Given the description of an element on the screen output the (x, y) to click on. 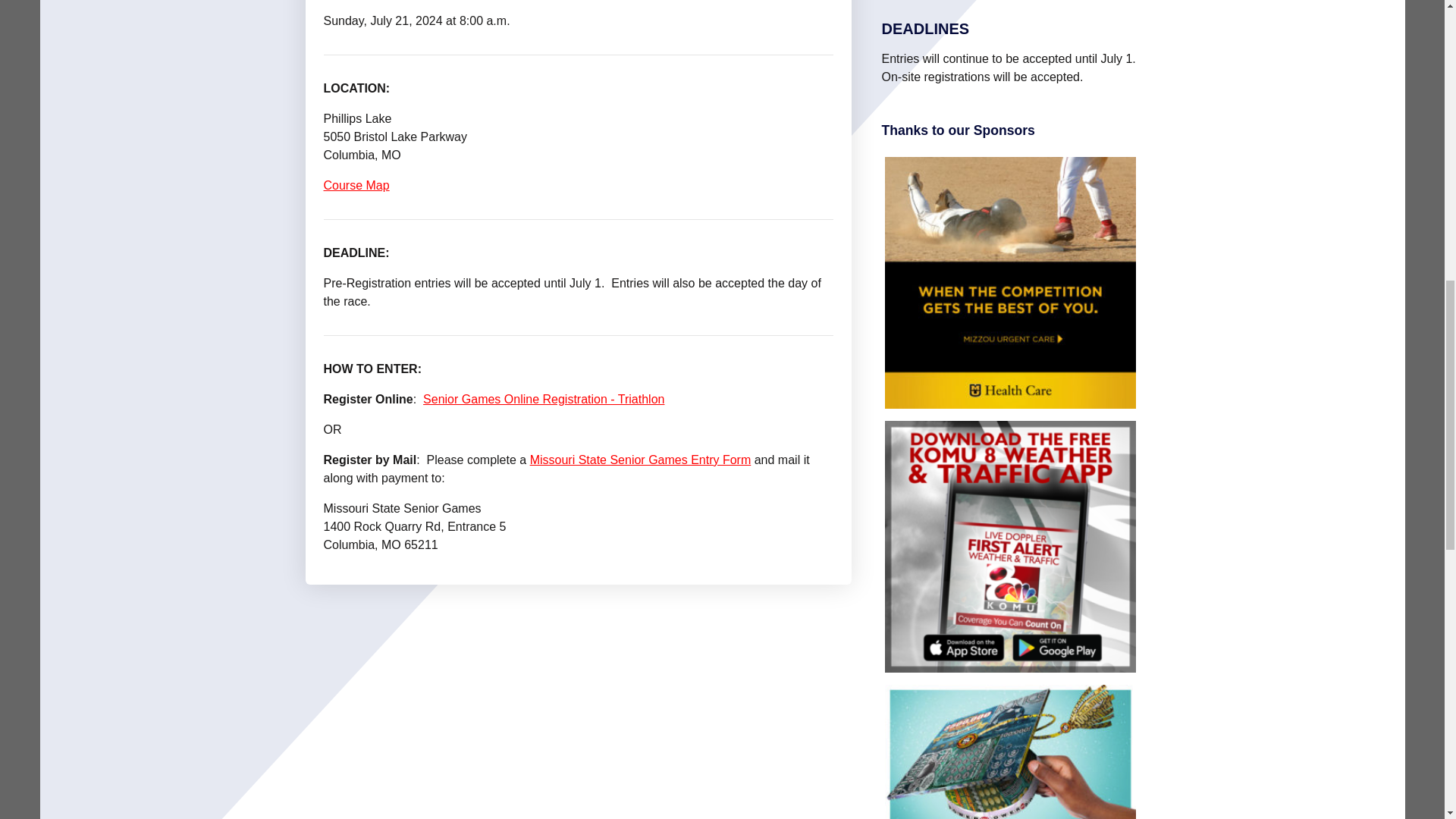
Course Map (355, 185)
Senior Games Online Registration - Triathlon (543, 399)
Missouri State Senior Games Entry Form (640, 459)
